Given the description of an element on the screen output the (x, y) to click on. 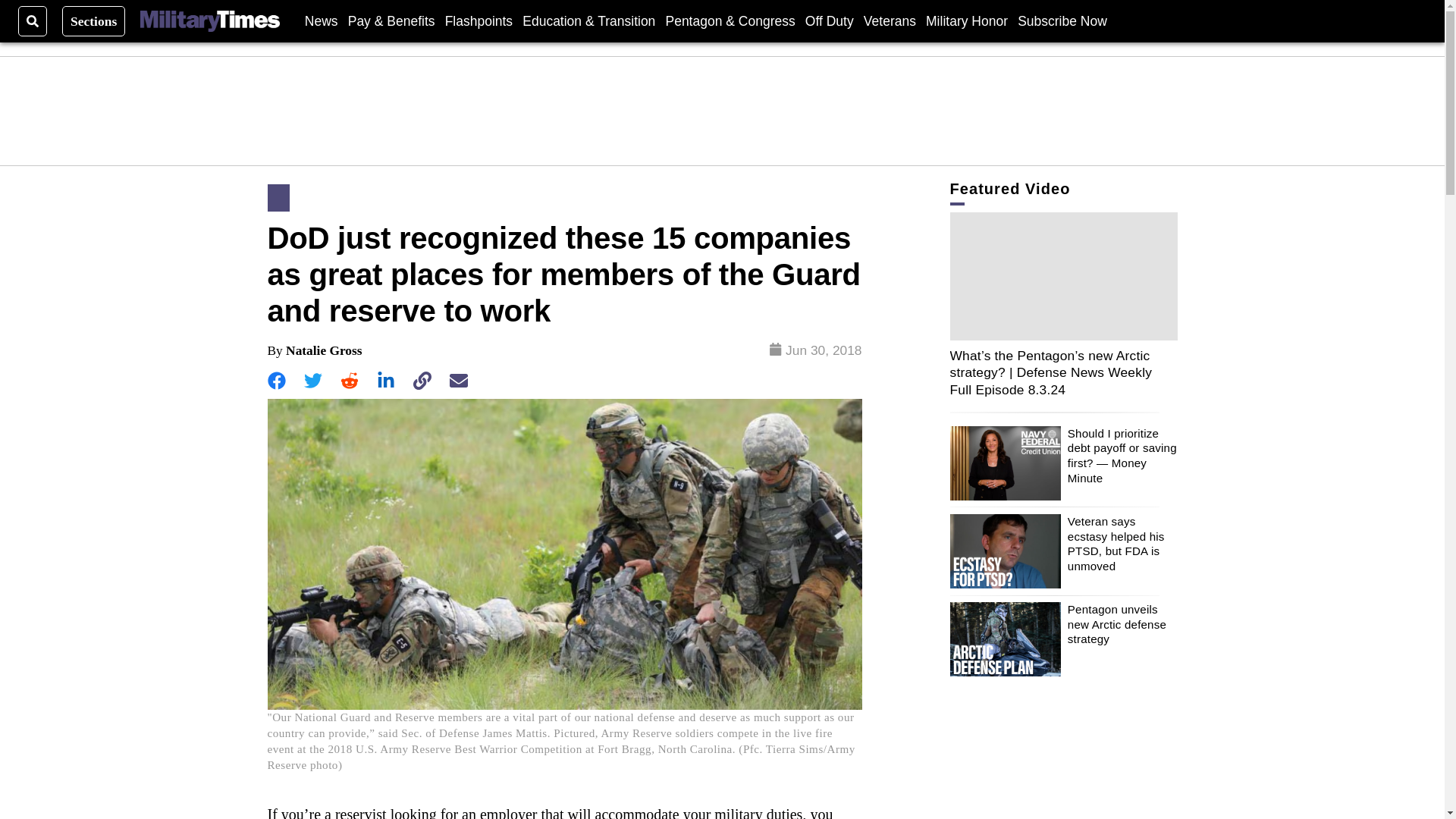
Off Duty (829, 20)
Veterans (889, 20)
Military Times Logo (209, 20)
Sections (93, 20)
Military Honor (966, 20)
News (320, 20)
Flashpoints (479, 20)
